Given the description of an element on the screen output the (x, y) to click on. 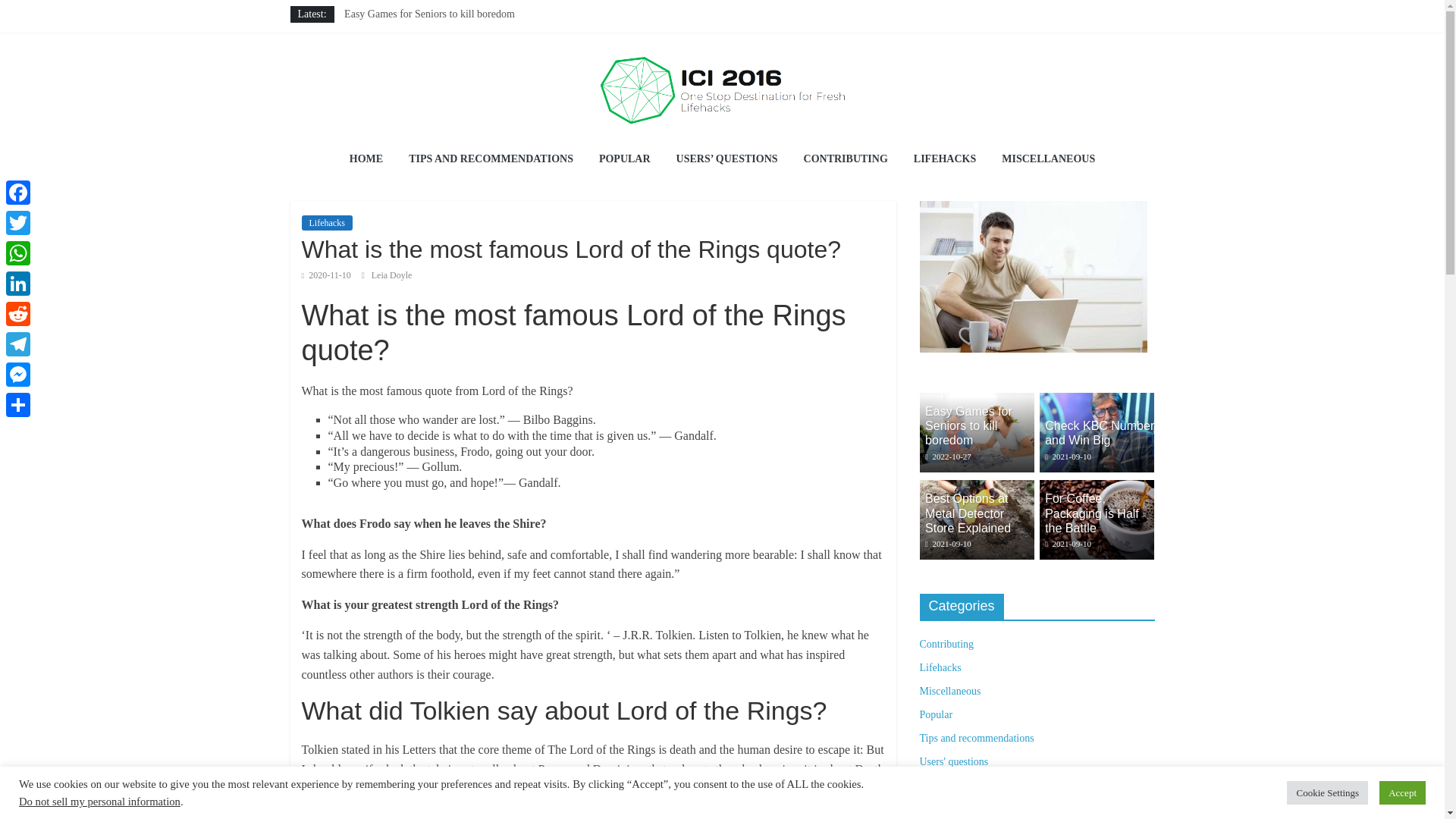
00:00 (325, 275)
2021-09-10 (1067, 456)
Easy Games for Seniors to kill boredom (429, 13)
MISCELLANEOUS (1048, 159)
LIFEHACKS (944, 159)
12:45 (947, 456)
Easy Games for Seniors to kill boredom (975, 400)
POPULAR (625, 159)
Lifehacks (326, 222)
